Given the description of an element on the screen output the (x, y) to click on. 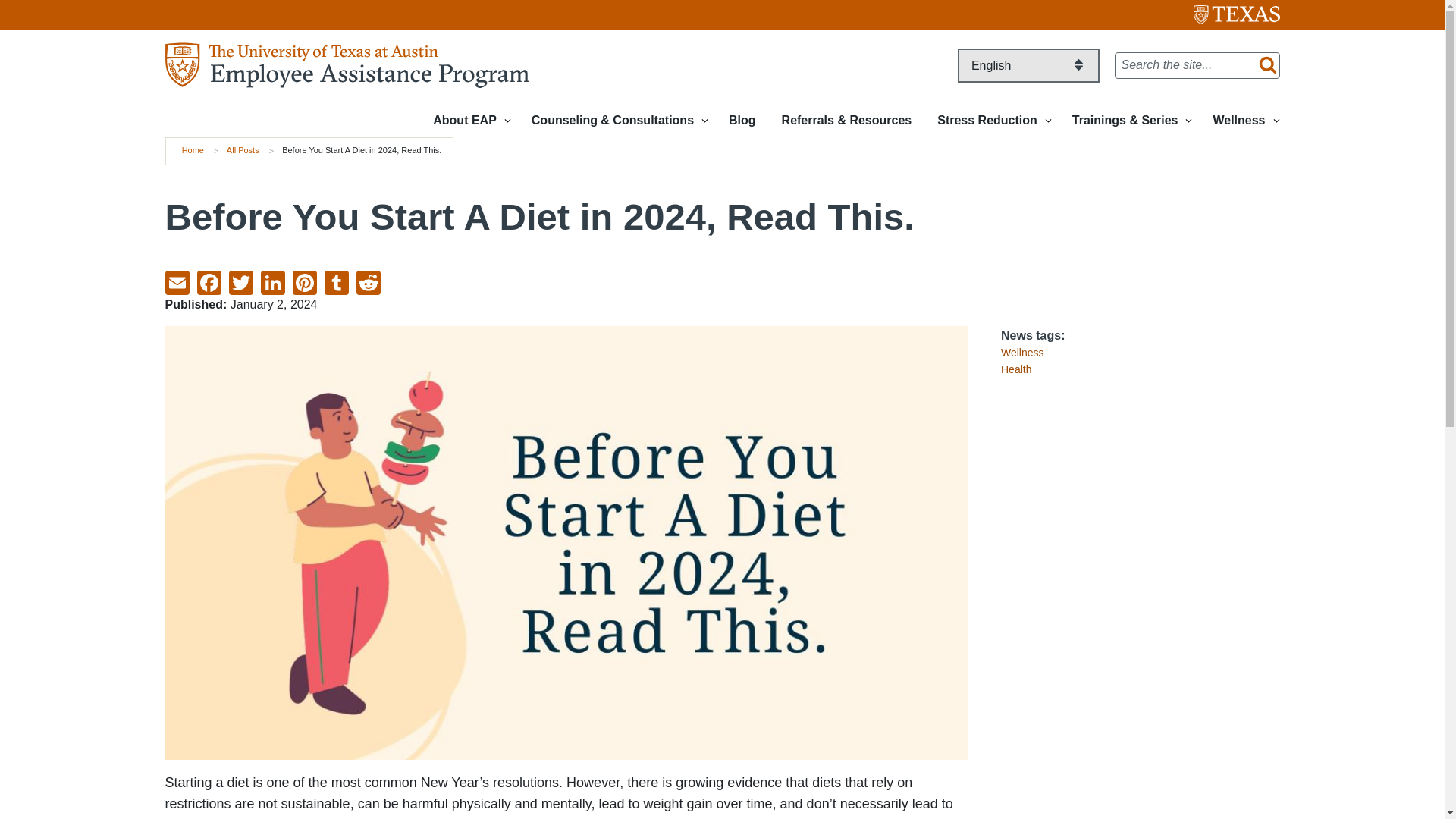
About EAP (469, 120)
Enter the terms you wish to search for. (1197, 64)
Twitter (244, 281)
Email (180, 281)
Blog (742, 120)
Search (1264, 64)
Home (347, 63)
Home (192, 149)
Facebook (212, 281)
All Posts (243, 149)
Search (1264, 64)
